Given the description of an element on the screen output the (x, y) to click on. 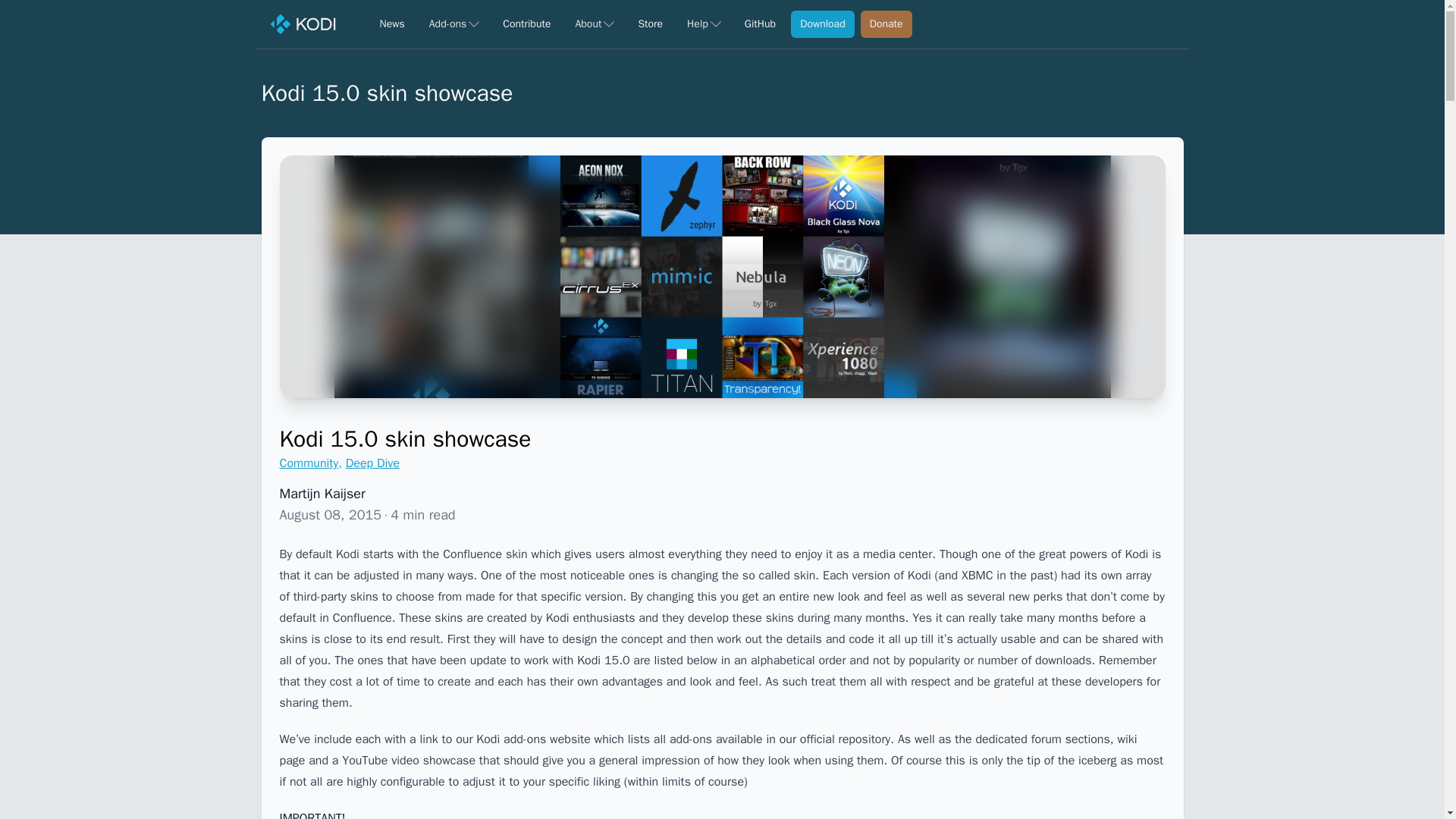
News (391, 23)
Download (822, 23)
Community (308, 462)
About (594, 23)
Home (302, 24)
Help (703, 23)
Contribute (526, 23)
Store (649, 23)
Donate (886, 23)
GitHub (759, 23)
Deep Dive (372, 462)
Add-ons (453, 23)
